Given the description of an element on the screen output the (x, y) to click on. 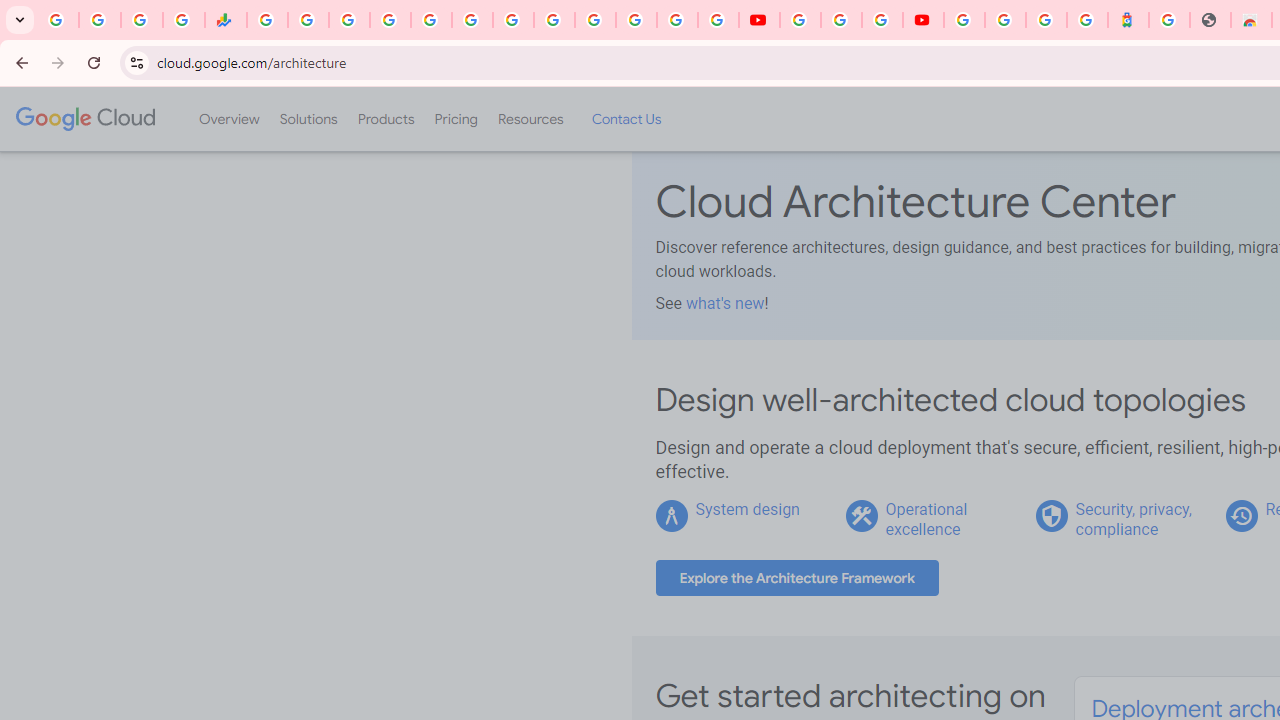
Sign in - Google Accounts (594, 20)
Pricing (455, 119)
